Given the description of an element on the screen output the (x, y) to click on. 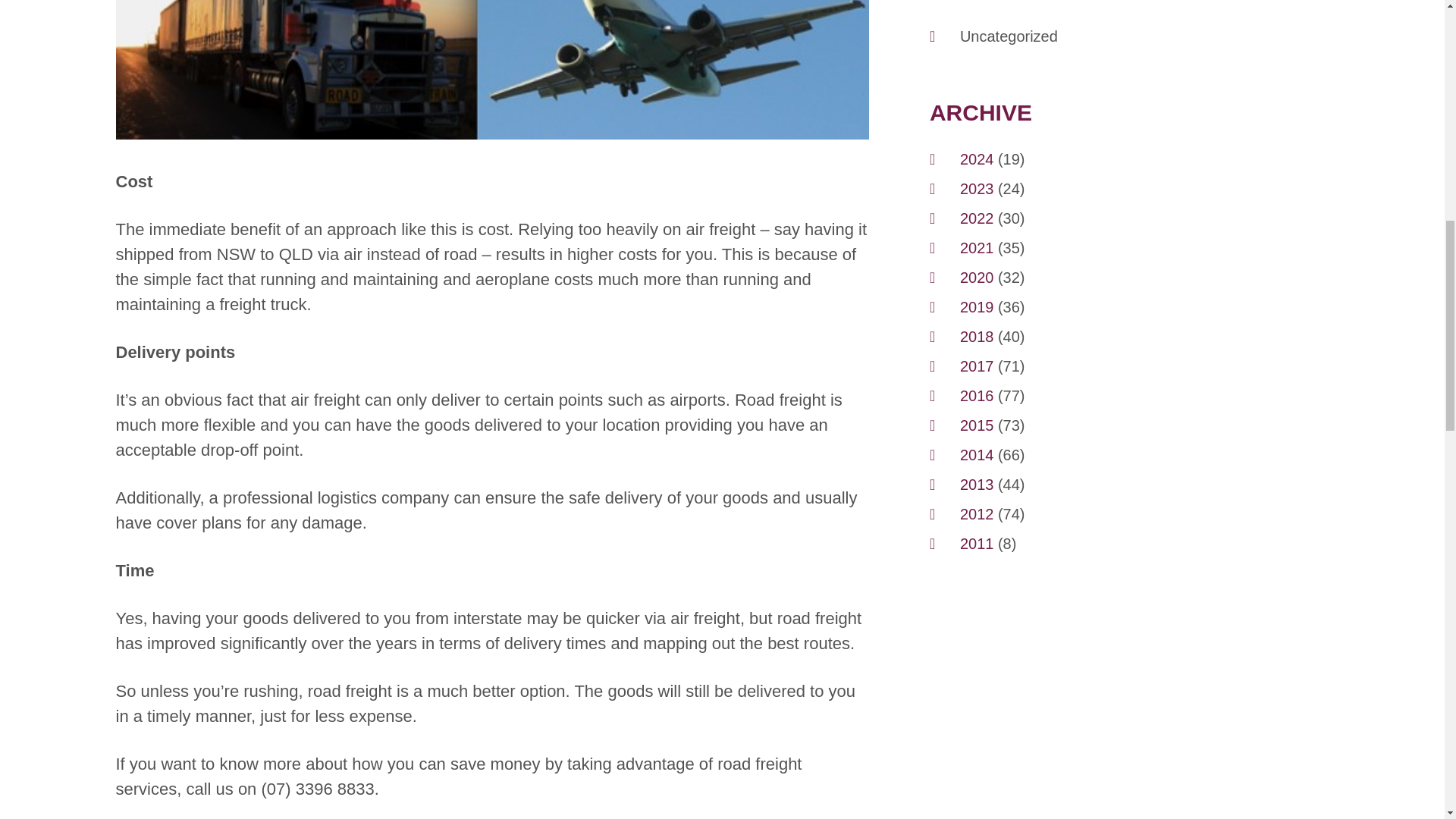
Uncategorized (1008, 36)
2022 (976, 217)
2024 (976, 158)
2023 (976, 188)
2021 (976, 247)
